Given the description of an element on the screen output the (x, y) to click on. 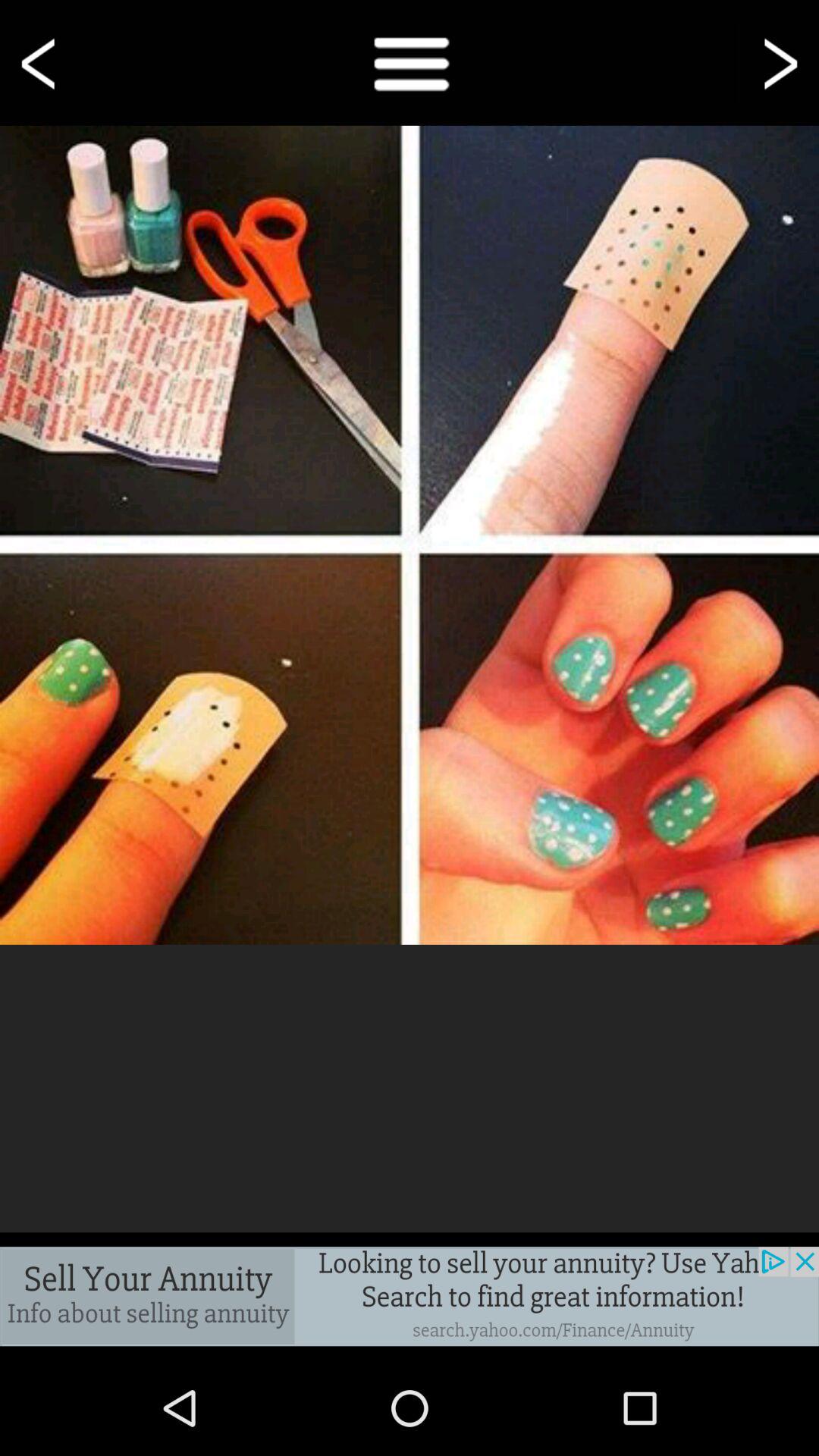
previous page (40, 62)
